Given the description of an element on the screen output the (x, y) to click on. 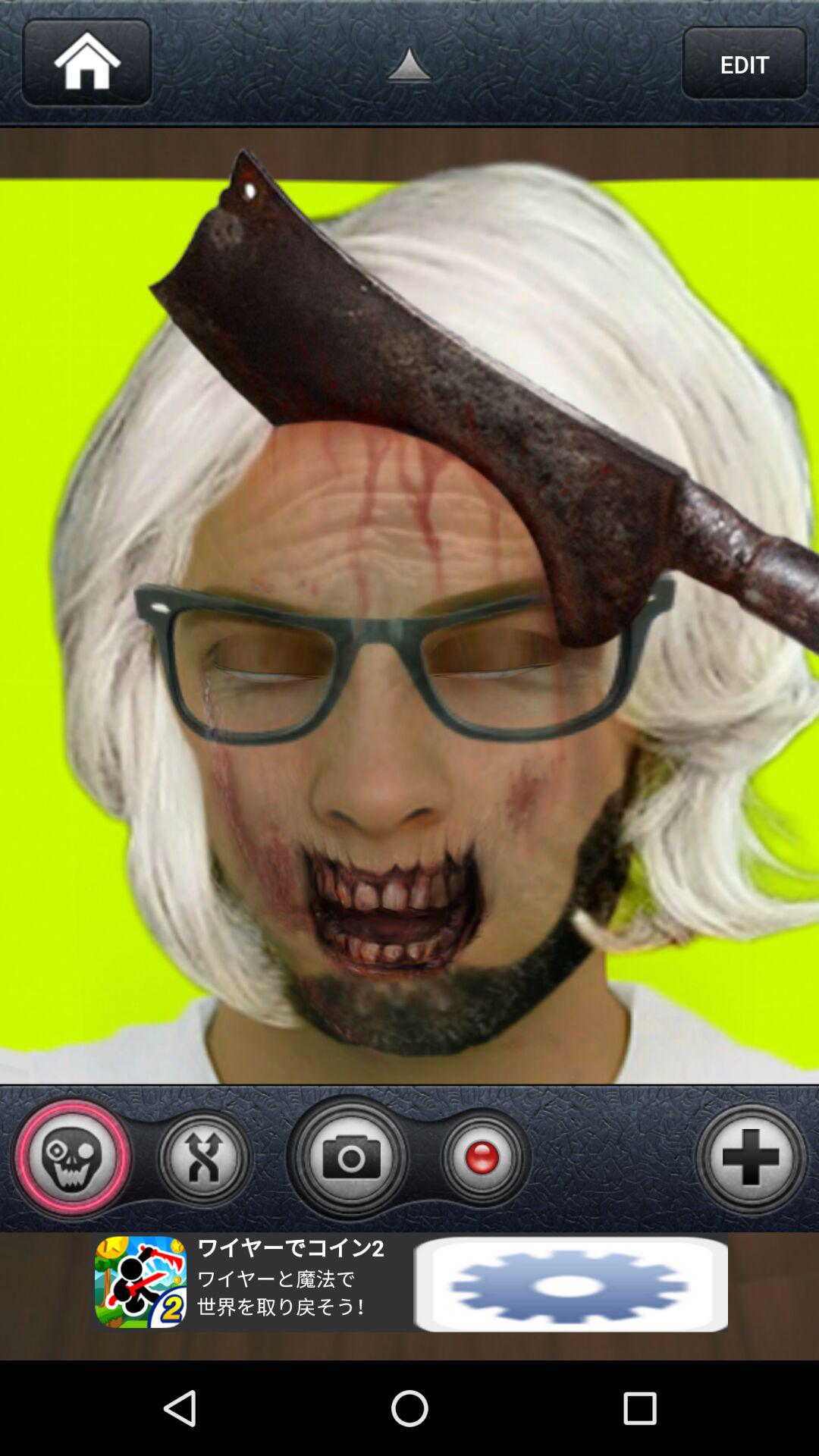
rec (482, 1157)
